Given the description of an element on the screen output the (x, y) to click on. 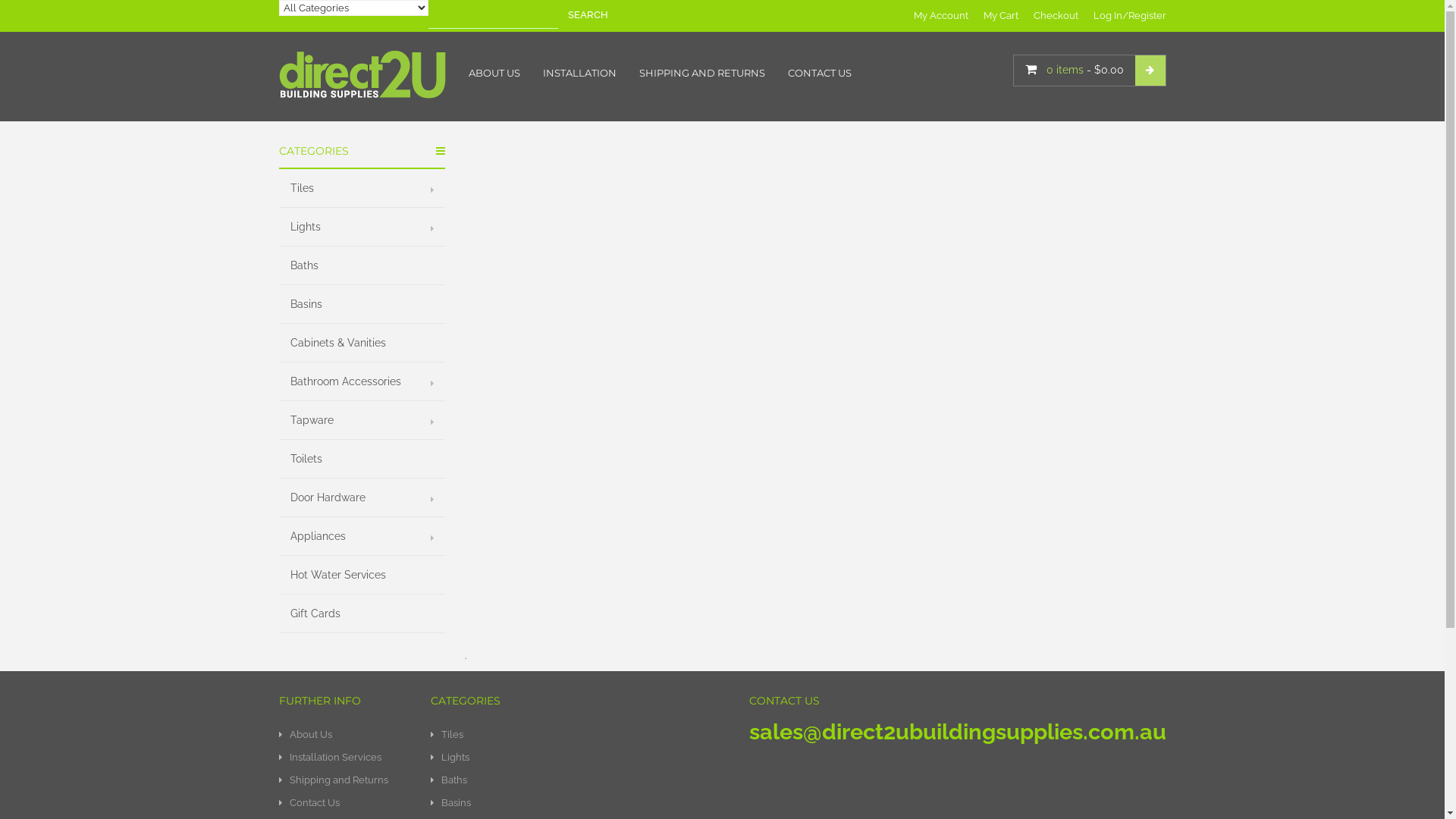
Bathroom Accessories Element type: text (362, 381)
Register Element type: text (1147, 15)
About Us Element type: text (343, 734)
Shipping and Returns Element type: text (343, 779)
Basins Element type: text (532, 802)
Lights Element type: text (532, 757)
Installation Services Element type: text (343, 757)
Baths Element type: text (362, 265)
Tapware Element type: text (362, 420)
Cabinets & Vanities Element type: text (362, 342)
My Cart Element type: text (999, 15)
Toilets Element type: text (362, 458)
Hot Water Services Element type: text (362, 574)
Appliances Element type: text (362, 536)
Lights Element type: text (362, 226)
INSTALLATION Element type: text (578, 72)
SEARCH Element type: text (587, 15)
ABOUT US Element type: text (493, 72)
My Account Element type: text (940, 15)
Basins Element type: text (362, 304)
Gift Cards Element type: text (362, 613)
CONTACT US Element type: text (819, 72)
sales@direct2ubuildingsupplies.com.au Element type: text (957, 731)
Contact Us Element type: text (343, 802)
Direct2U Building Supplies Element type: hover (362, 74)
Door Hardware Element type: text (362, 497)
0 items - $0.00 Element type: text (1089, 70)
Tiles Element type: text (362, 188)
Tiles Element type: text (532, 734)
Baths Element type: text (532, 779)
SHIPPING AND RETURNS Element type: text (701, 72)
Checkout Element type: text (1054, 15)
Log In Element type: text (1107, 15)
